Given the description of an element on the screen output the (x, y) to click on. 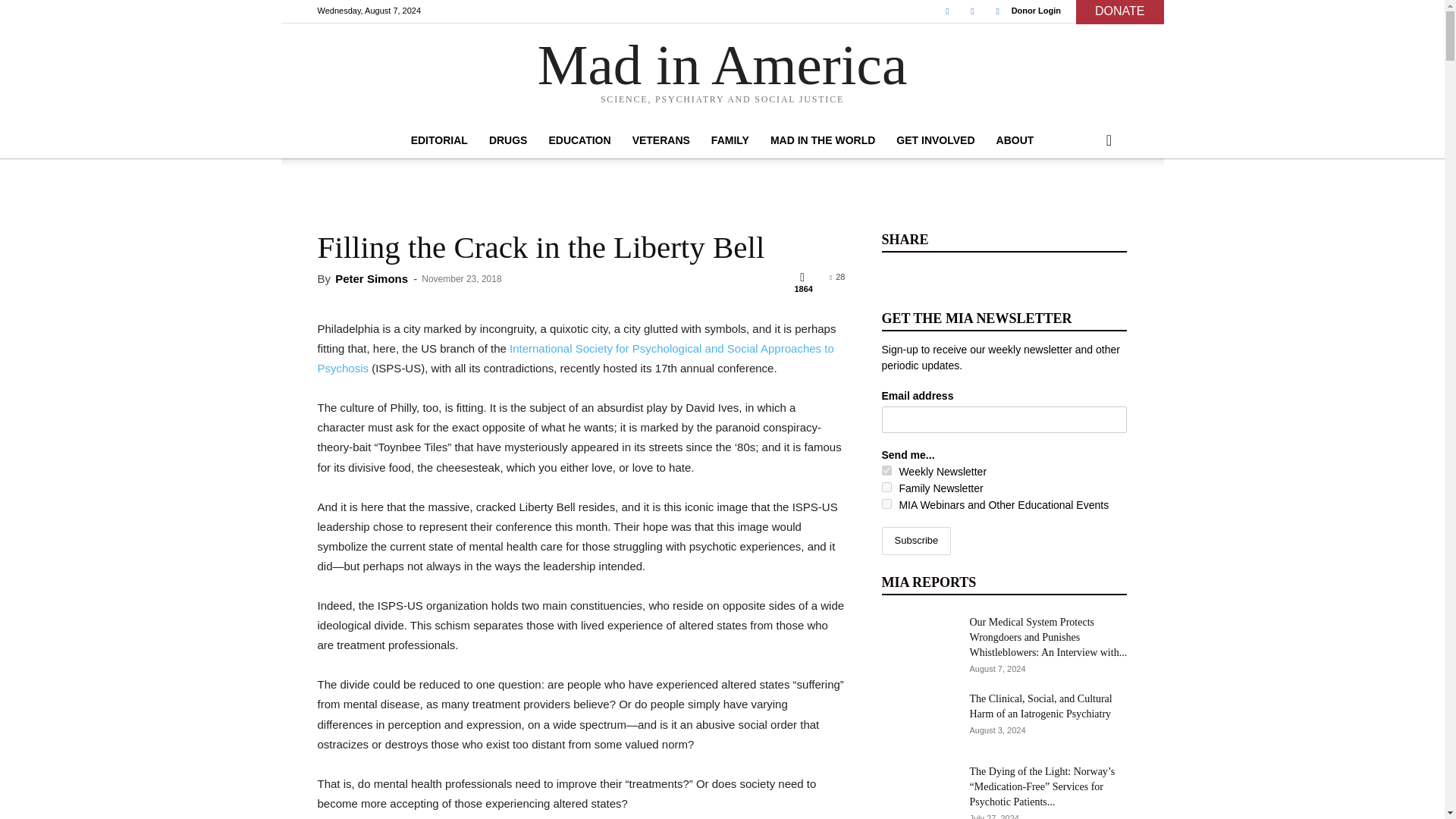
64ec82b4cd (885, 487)
59a3706891 (885, 503)
Twitter (972, 10)
Posts by Peter Simons (370, 278)
Facebook (947, 10)
Subscribe (915, 541)
Youtube (998, 10)
a8b577bac2 (885, 470)
